Given the description of an element on the screen output the (x, y) to click on. 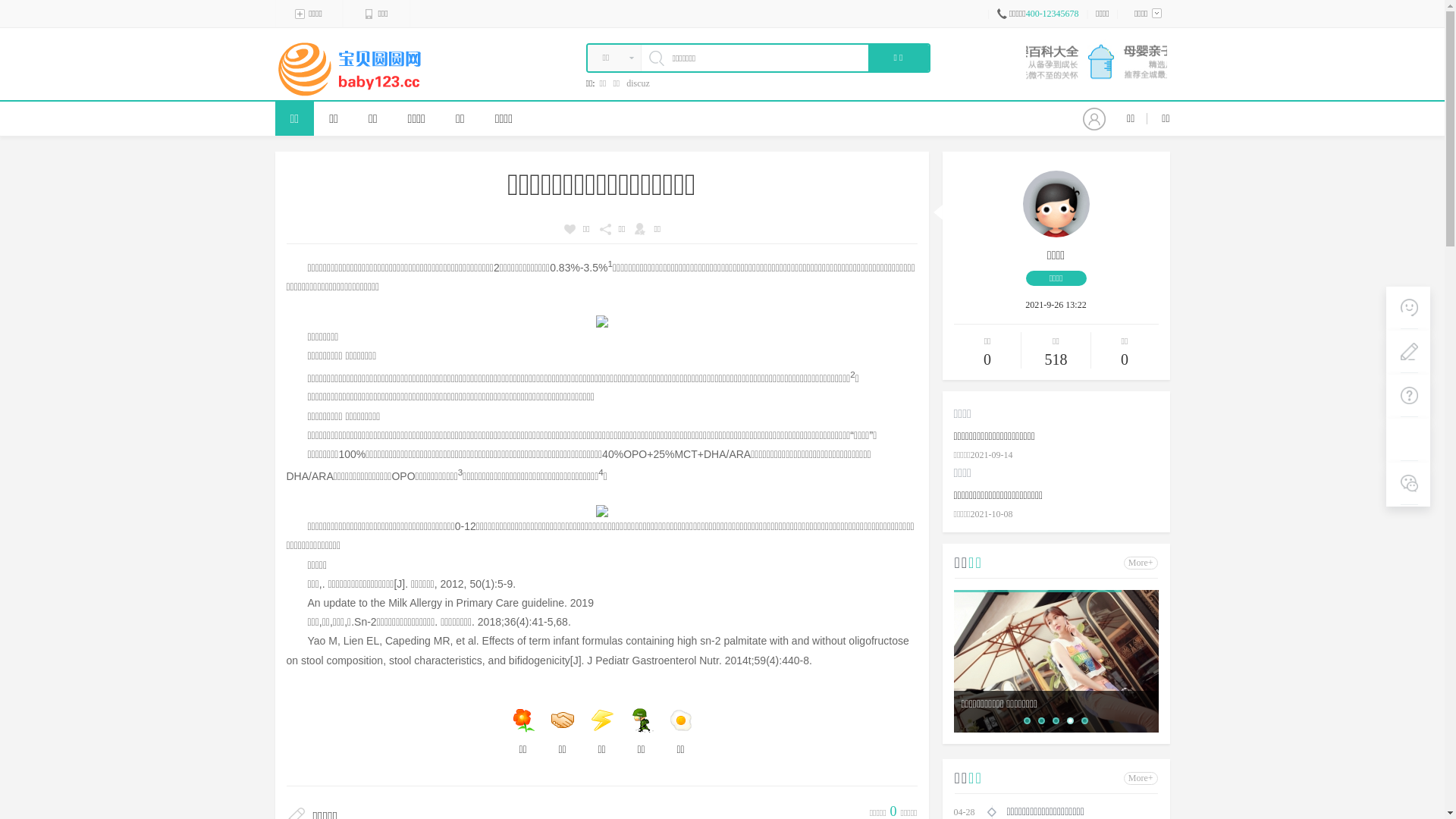
More+ Element type: text (1140, 562)
More+ Element type: text (1140, 777)
discuz Element type: text (638, 83)
